Given the description of an element on the screen output the (x, y) to click on. 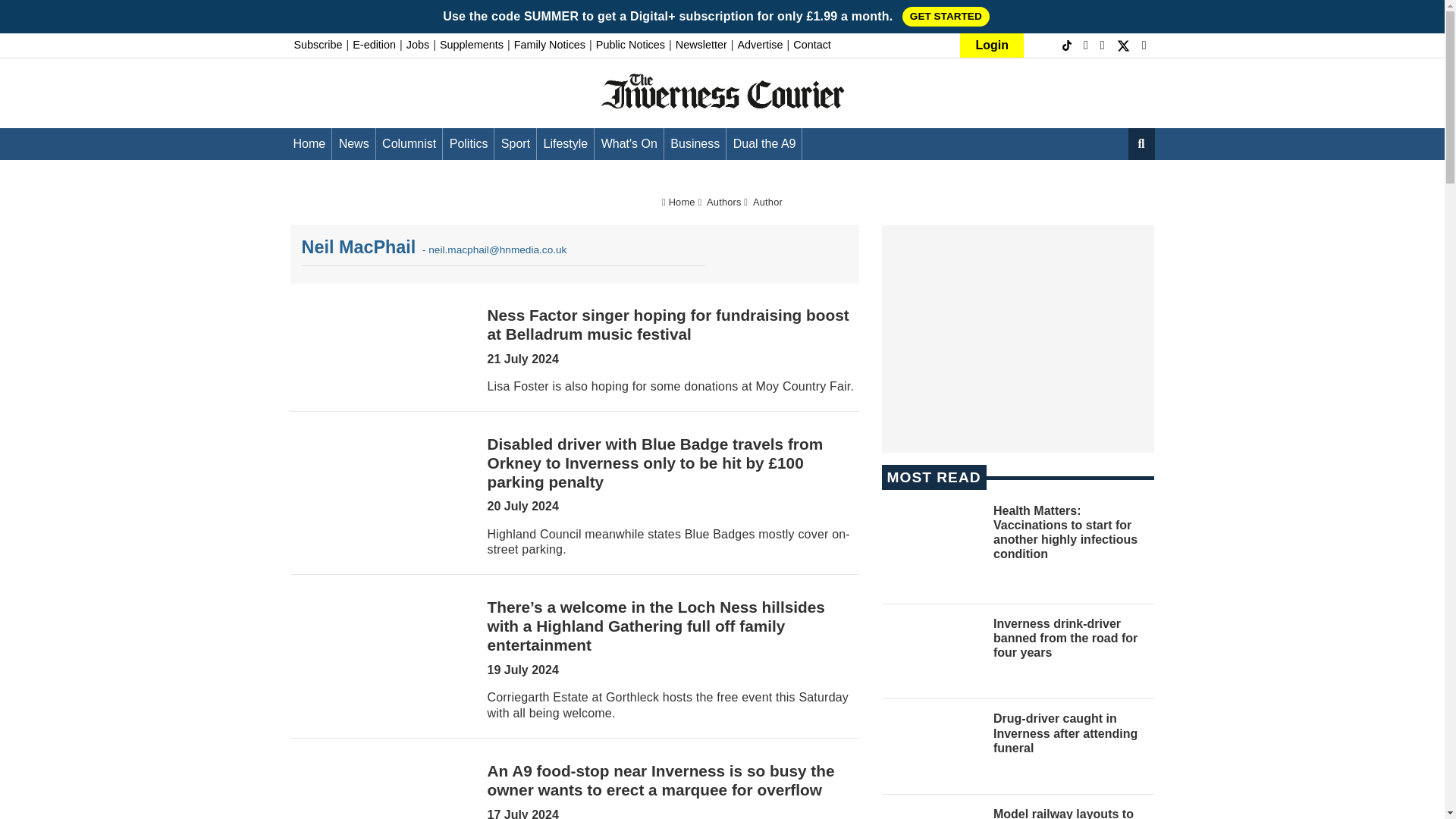
GET STARTED (946, 16)
